Given the description of an element on the screen output the (x, y) to click on. 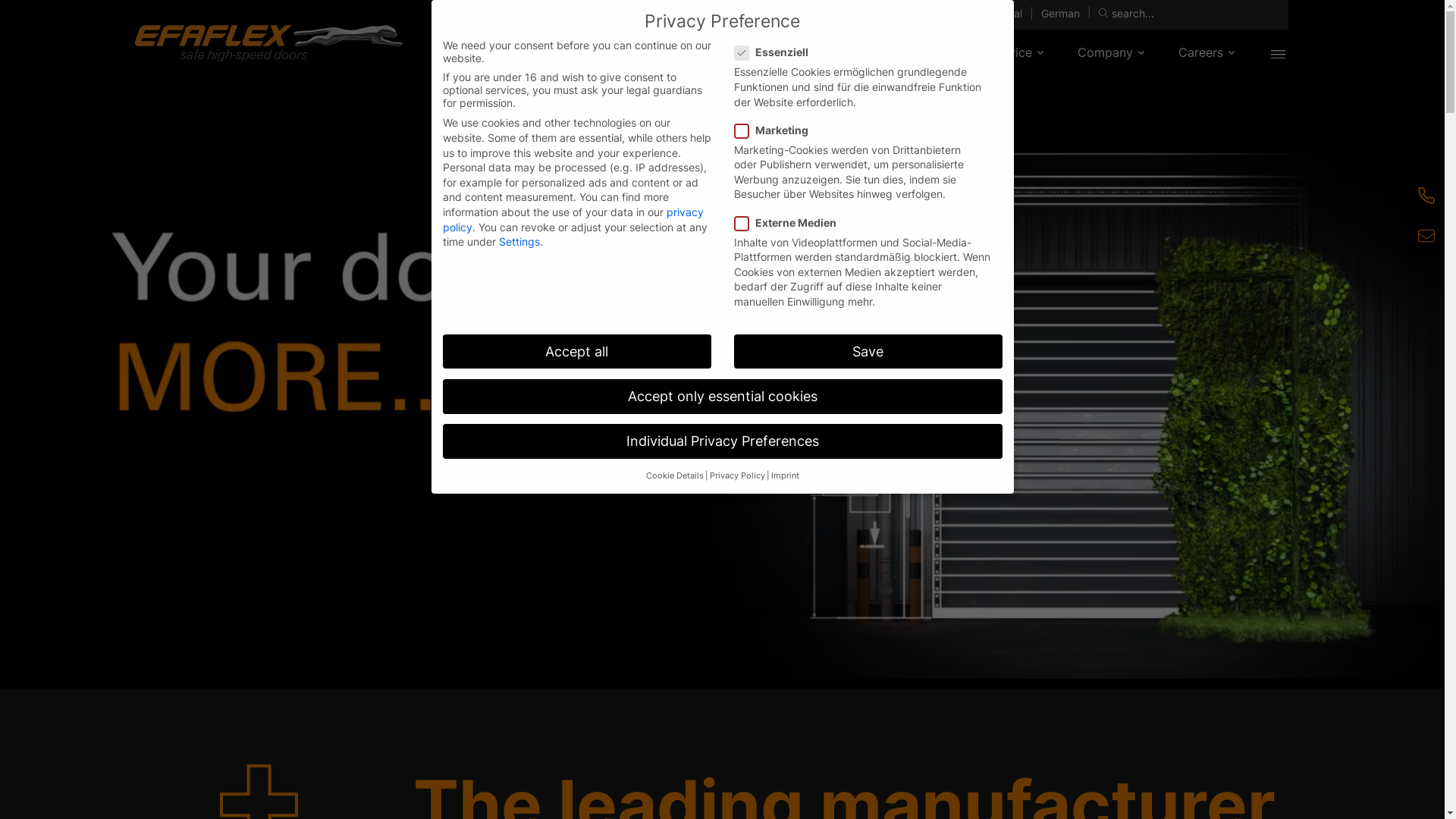
Contact Element type: text (906, 12)
Imprint Element type: text (784, 475)
Individual Privacy Preferences Element type: text (722, 440)
Accept all Element type: text (576, 351)
Solutions Element type: text (839, 52)
Privacy Policy Element type: text (737, 475)
International Element type: text (990, 12)
Service Element type: text (1010, 52)
EFAFLEX Element type: text (267, 43)
Product finder Element type: text (831, 12)
Accept only essential cookies Element type: text (722, 396)
privacy policy Element type: text (572, 219)
Cookie Details Element type: text (674, 475)
Users Element type: text (927, 52)
German Element type: text (1059, 12)
Careers Element type: text (1200, 52)
Settings Element type: text (518, 241)
Company Element type: text (1105, 52)
Products Element type: text (741, 52)
Save Element type: text (868, 351)
